Given the description of an element on the screen output the (x, y) to click on. 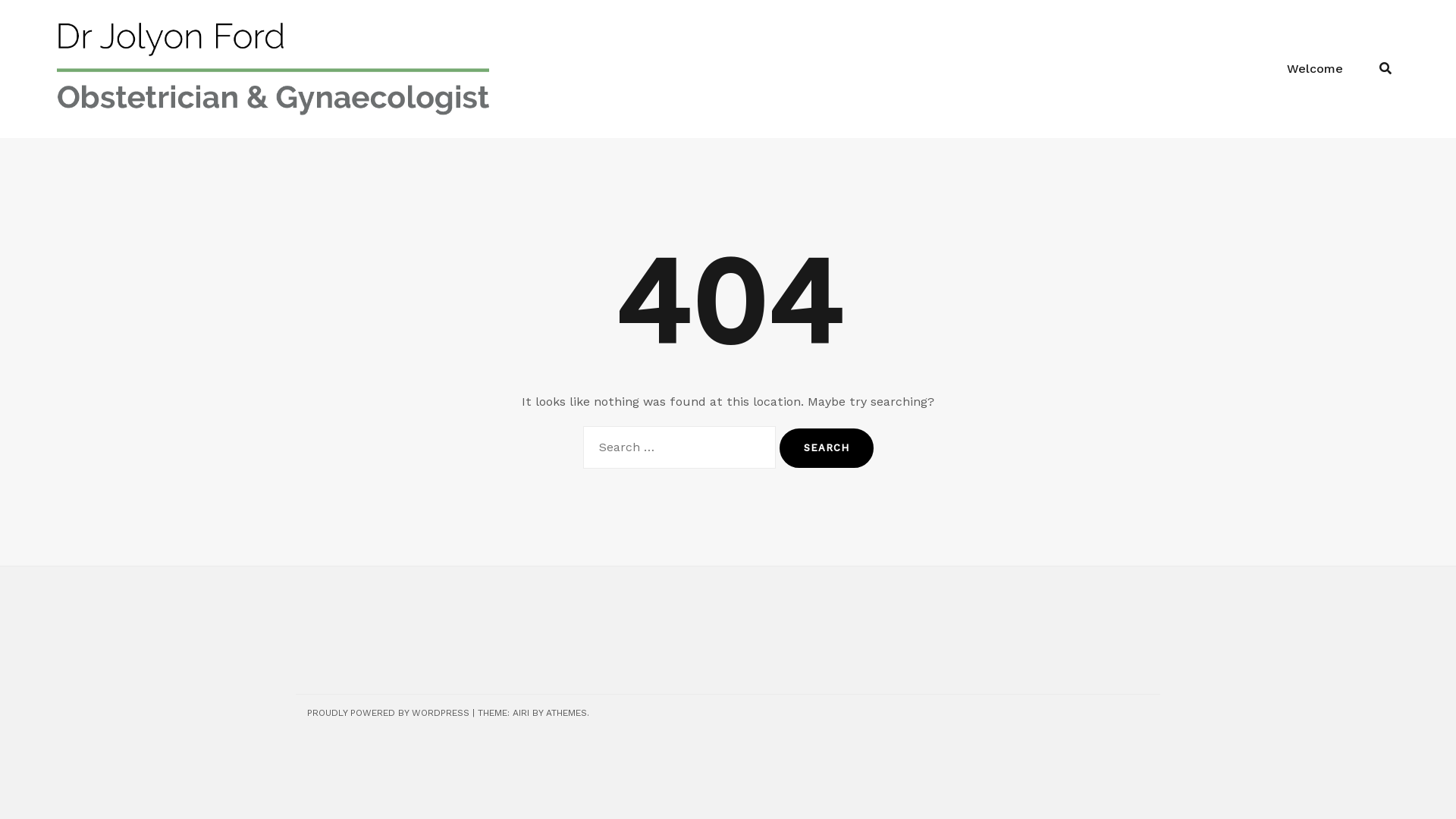
Welcome Element type: text (1314, 68)
Search Element type: text (826, 447)
PROUDLY POWERED BY WORDPRESS Element type: text (388, 712)
AIRI Element type: text (520, 712)
